Given the description of an element on the screen output the (x, y) to click on. 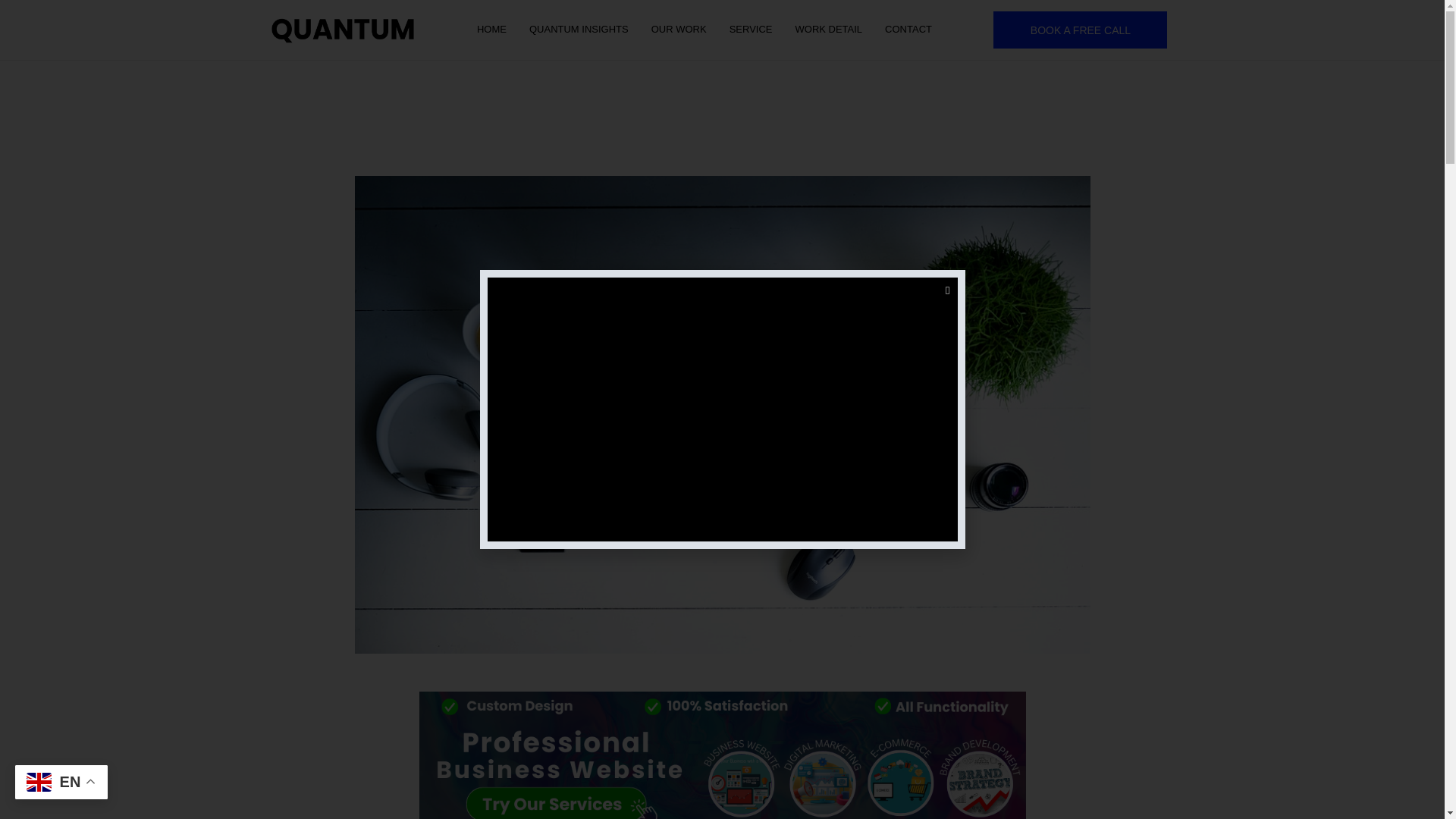
vimeo Video Player (721, 409)
QUANTUM INSIGHTS (579, 29)
CONTACT (908, 29)
WORK DETAIL (829, 29)
OUR WORK (678, 29)
SERVICE (750, 29)
HOME (491, 29)
BOOK A FREE CALL (1079, 29)
